Given the description of an element on the screen output the (x, y) to click on. 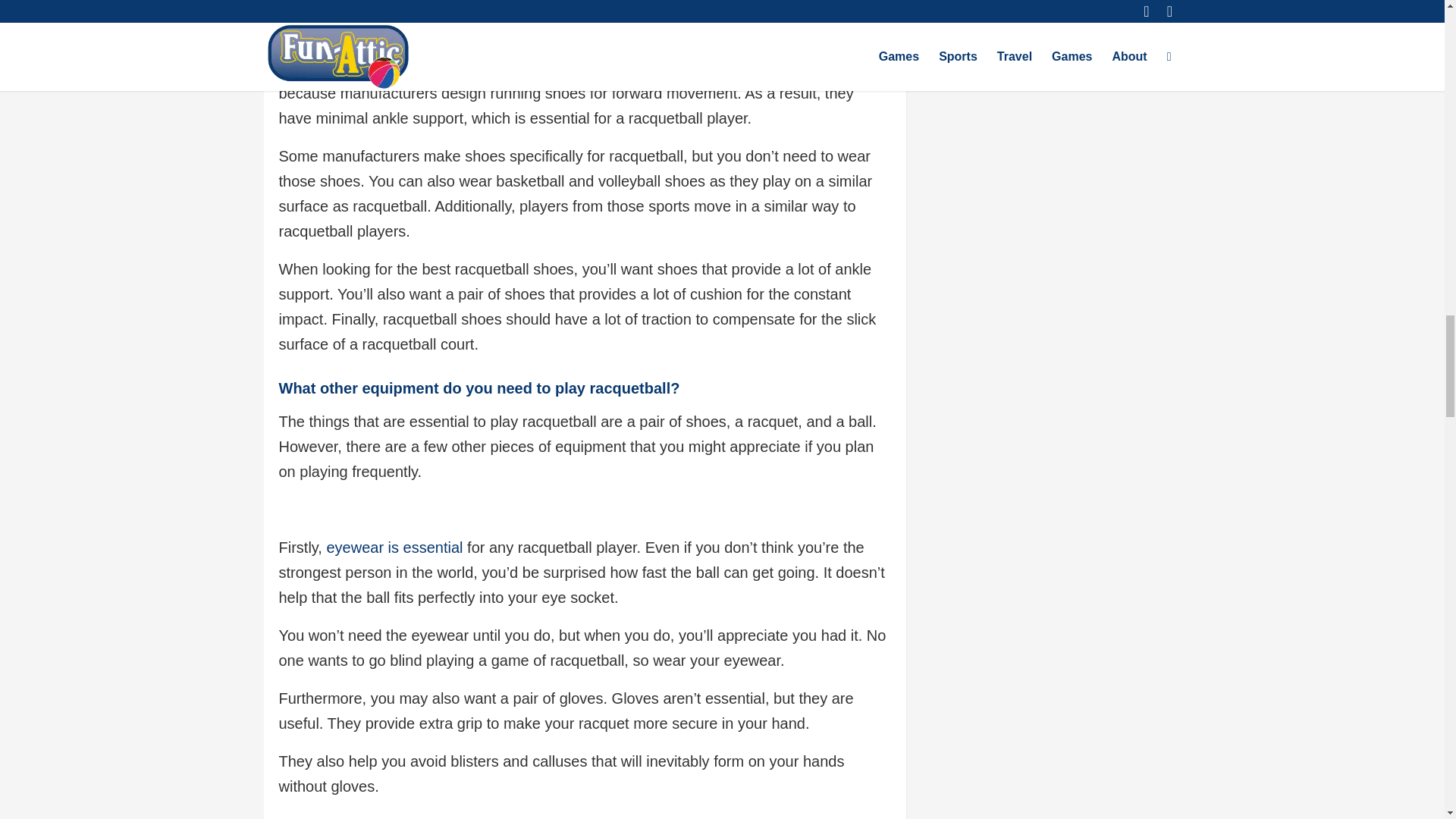
eyewear is essential (394, 547)
